Given the description of an element on the screen output the (x, y) to click on. 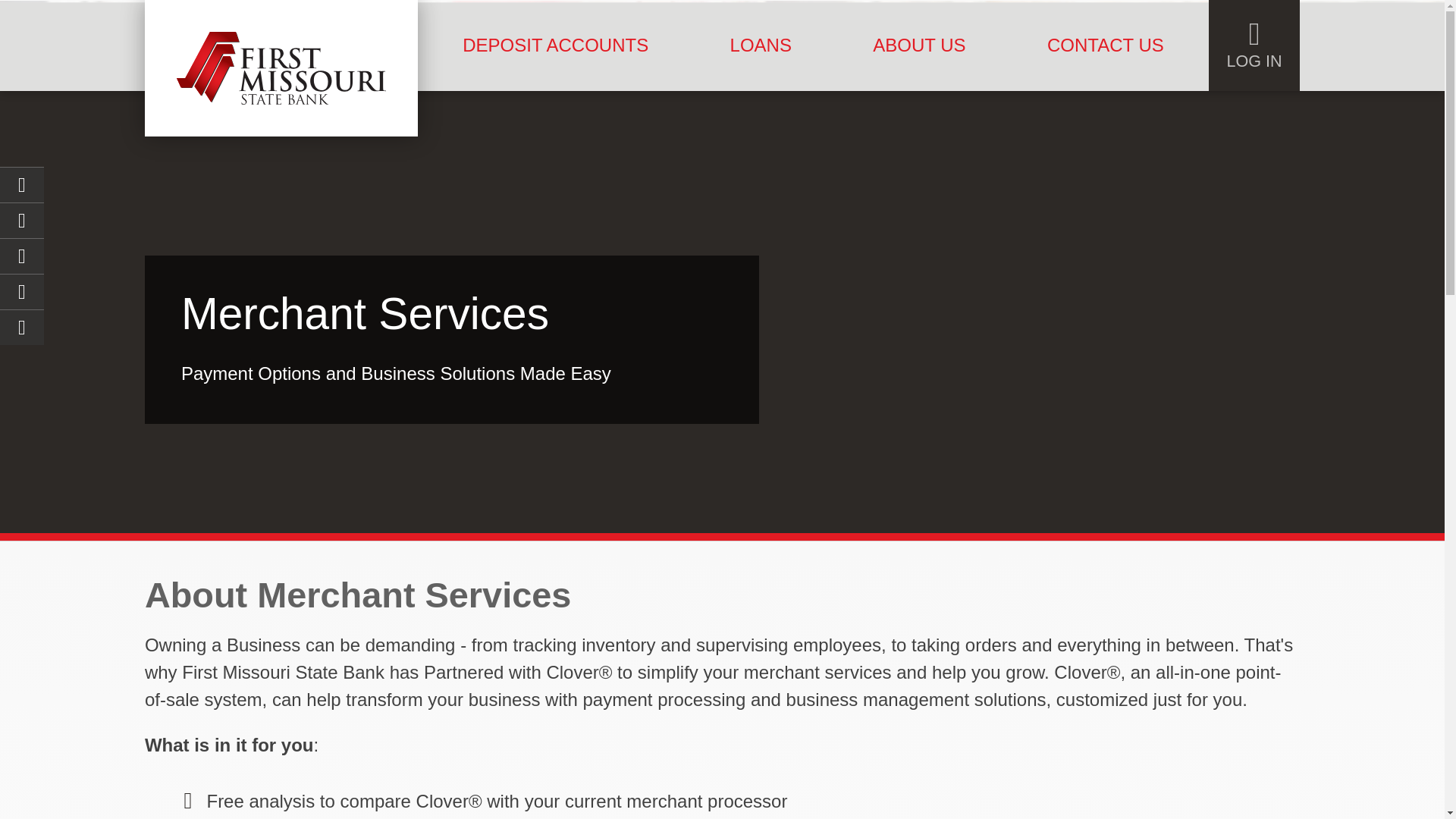
LOG IN (1254, 45)
